Given the description of an element on the screen output the (x, y) to click on. 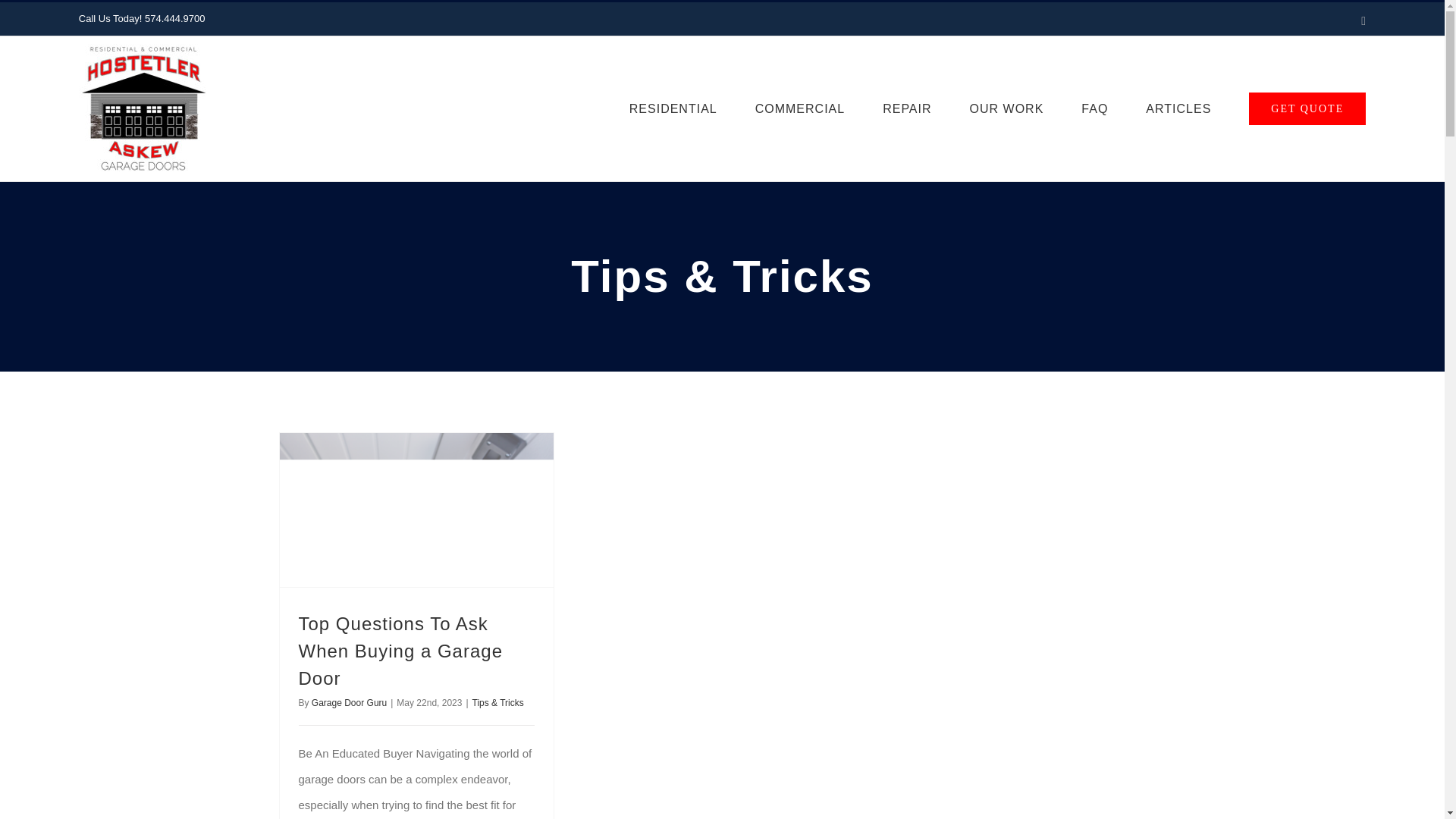
Top Questions To Ask When Buying a Garage Door (400, 650)
Posts by Garage Door Guru (349, 702)
574.444.9700 (174, 18)
Garage Door Guru (349, 702)
